Given the description of an element on the screen output the (x, y) to click on. 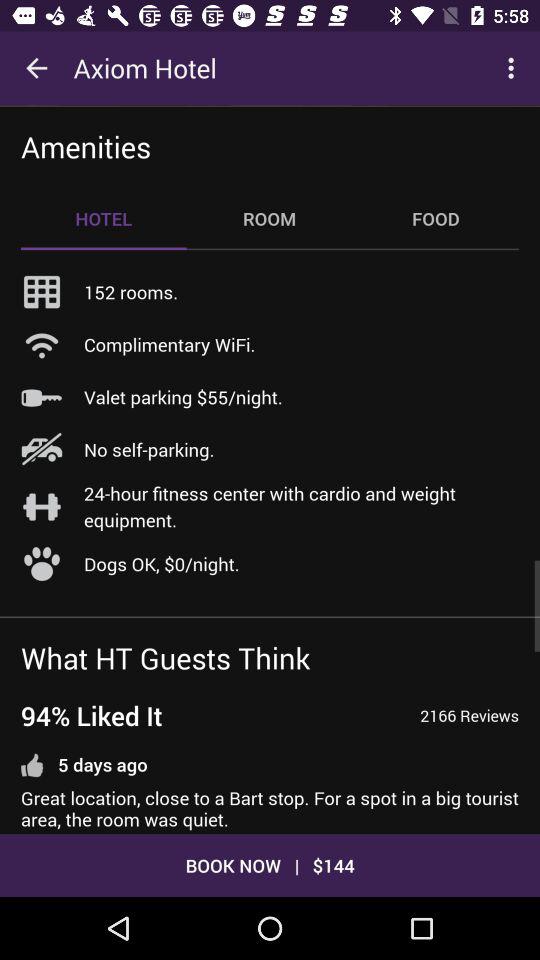
tap book now   |   $144 (270, 864)
